Given the description of an element on the screen output the (x, y) to click on. 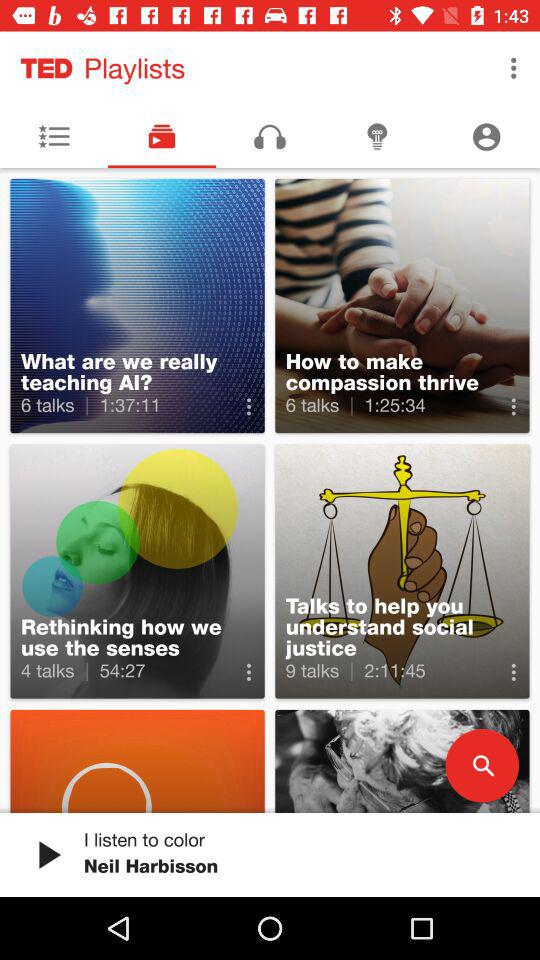
tap the icon next to the playlists item (513, 67)
